Given the description of an element on the screen output the (x, y) to click on. 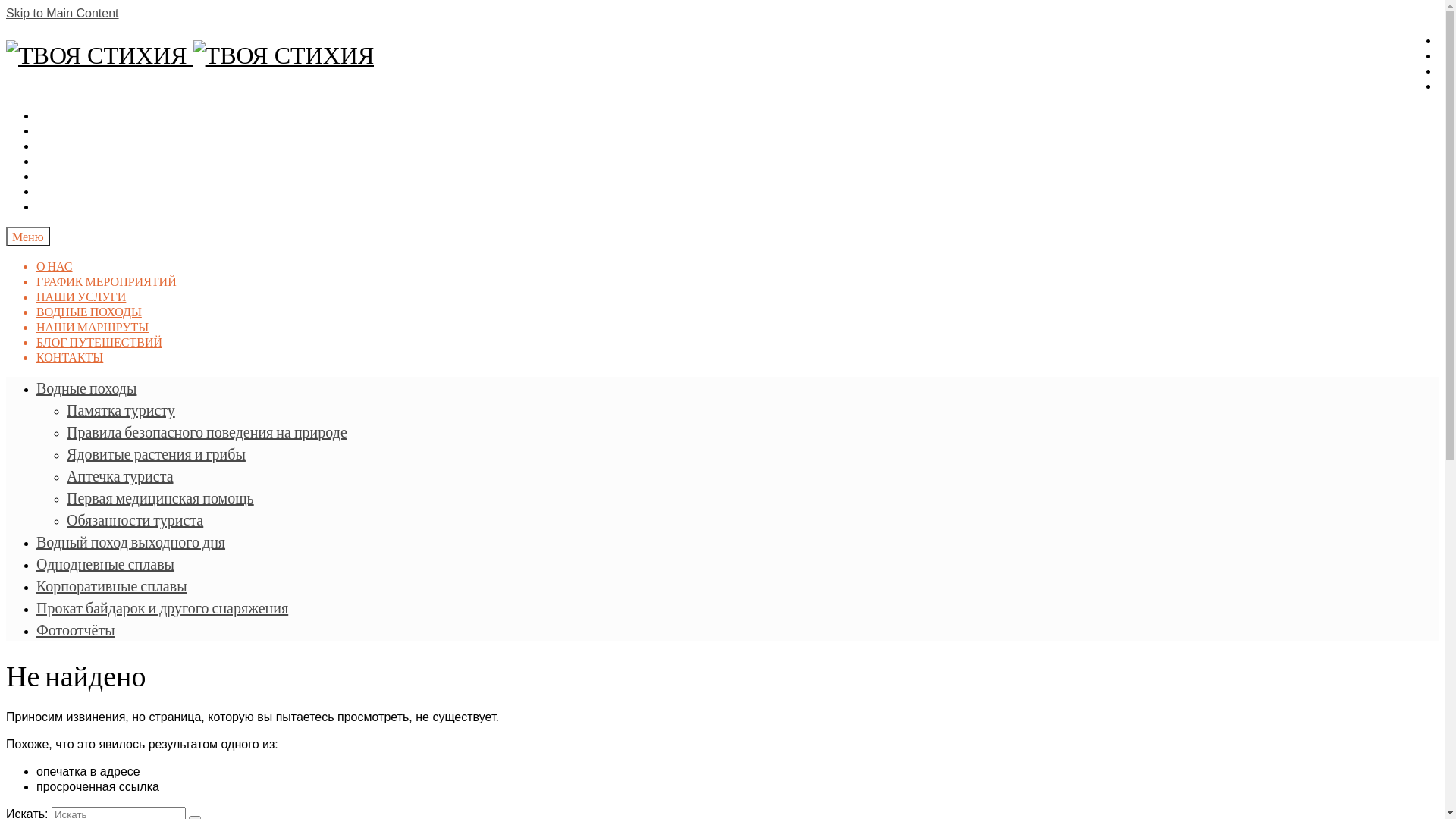
Skip to Main Content Element type: text (62, 12)
